Given the description of an element on the screen output the (x, y) to click on. 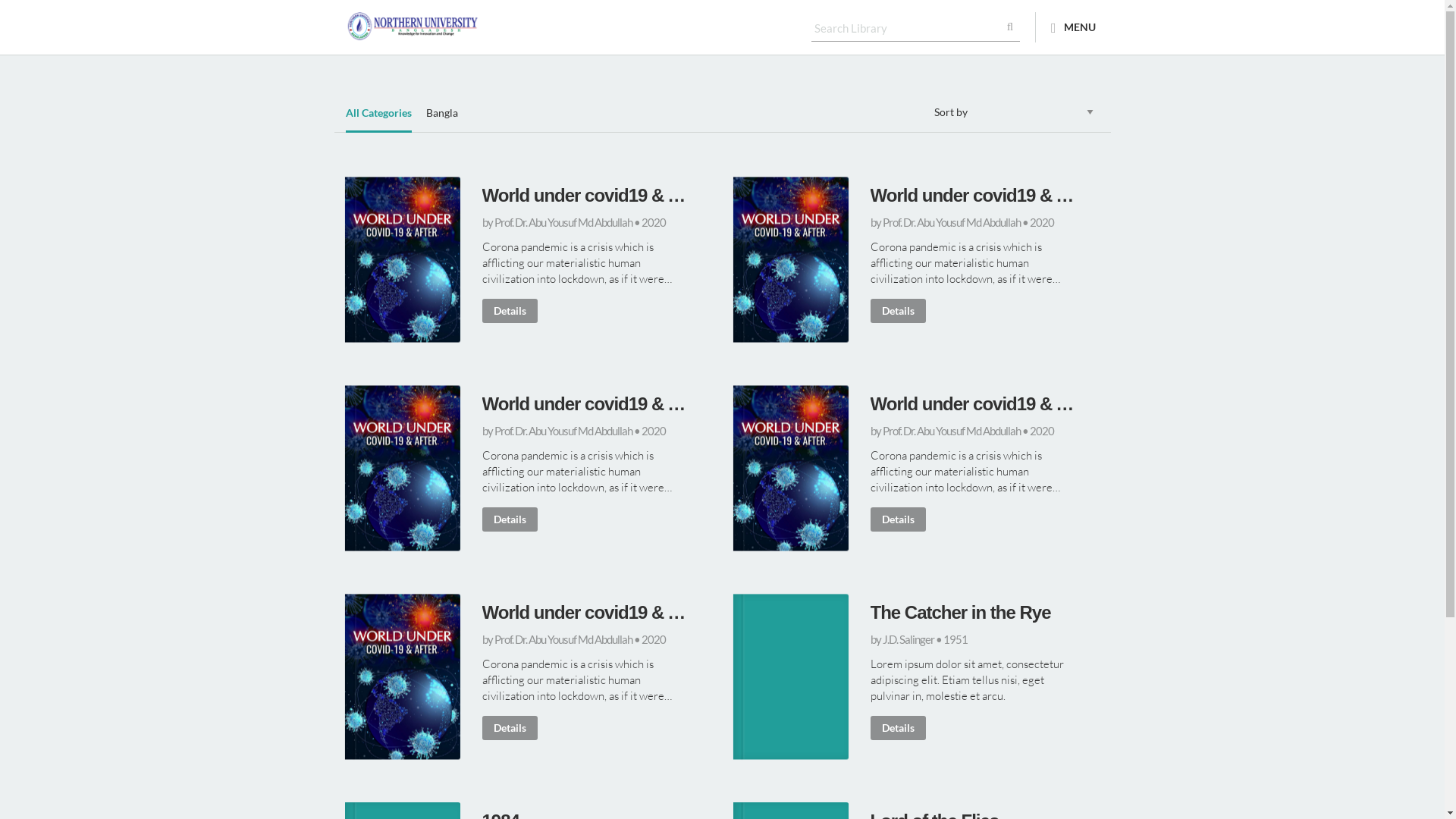
Details Element type: text (509, 519)
Bangla Element type: text (442, 119)
MENU Element type: text (1073, 27)
Details Element type: text (509, 727)
Details Element type: text (897, 727)
Details Element type: text (509, 310)
The Publication Element type: text (536, 26)
Details Element type: text (897, 310)
Details Element type: text (897, 519)
All Categories Element type: text (378, 119)
